Given the description of an element on the screen output the (x, y) to click on. 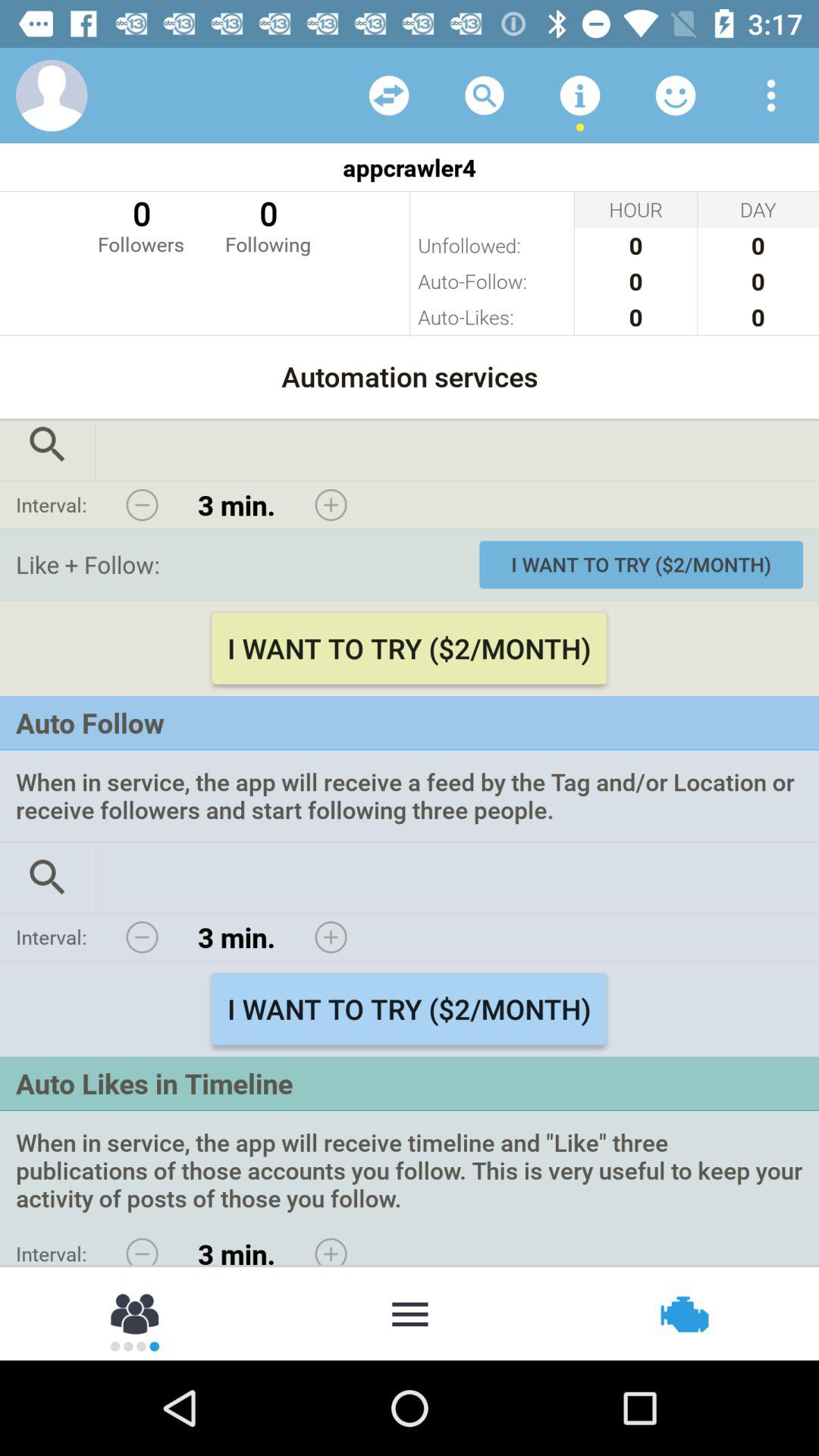
search (484, 95)
